Given the description of an element on the screen output the (x, y) to click on. 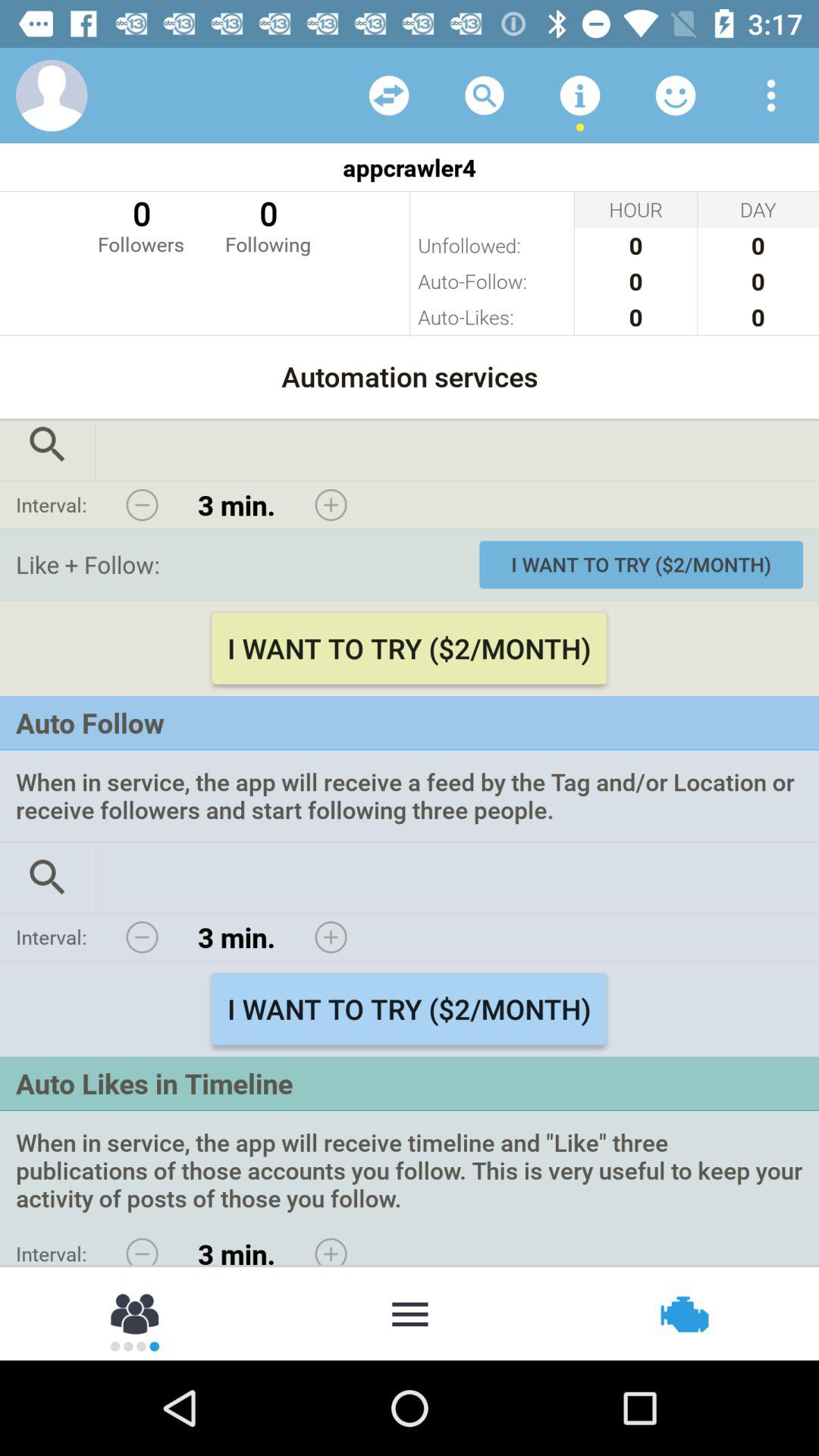
search (484, 95)
